Given the description of an element on the screen output the (x, y) to click on. 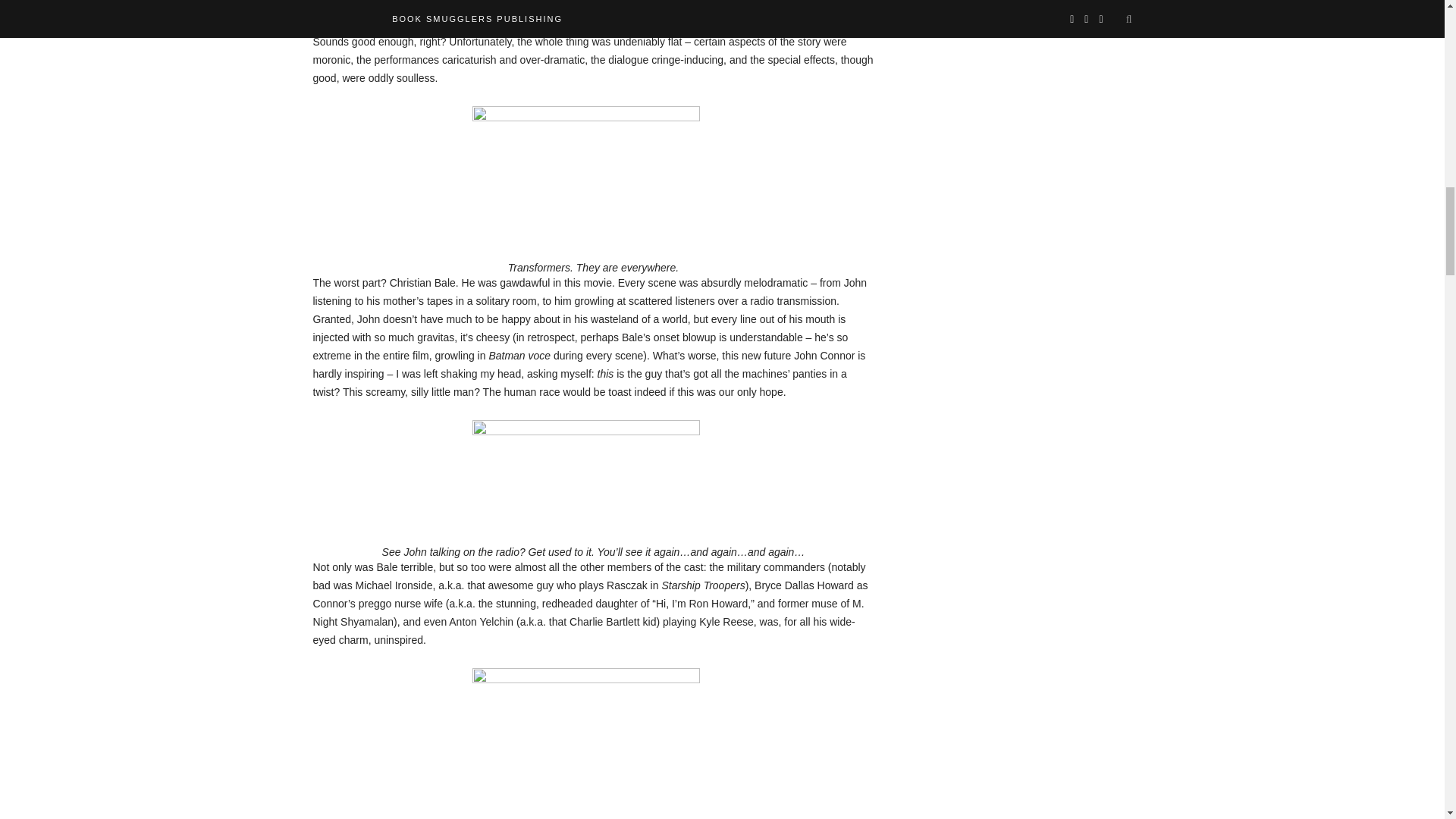
salvation-transformer (584, 168)
connor-2 (584, 467)
marcus-3 (584, 743)
